Given the description of an element on the screen output the (x, y) to click on. 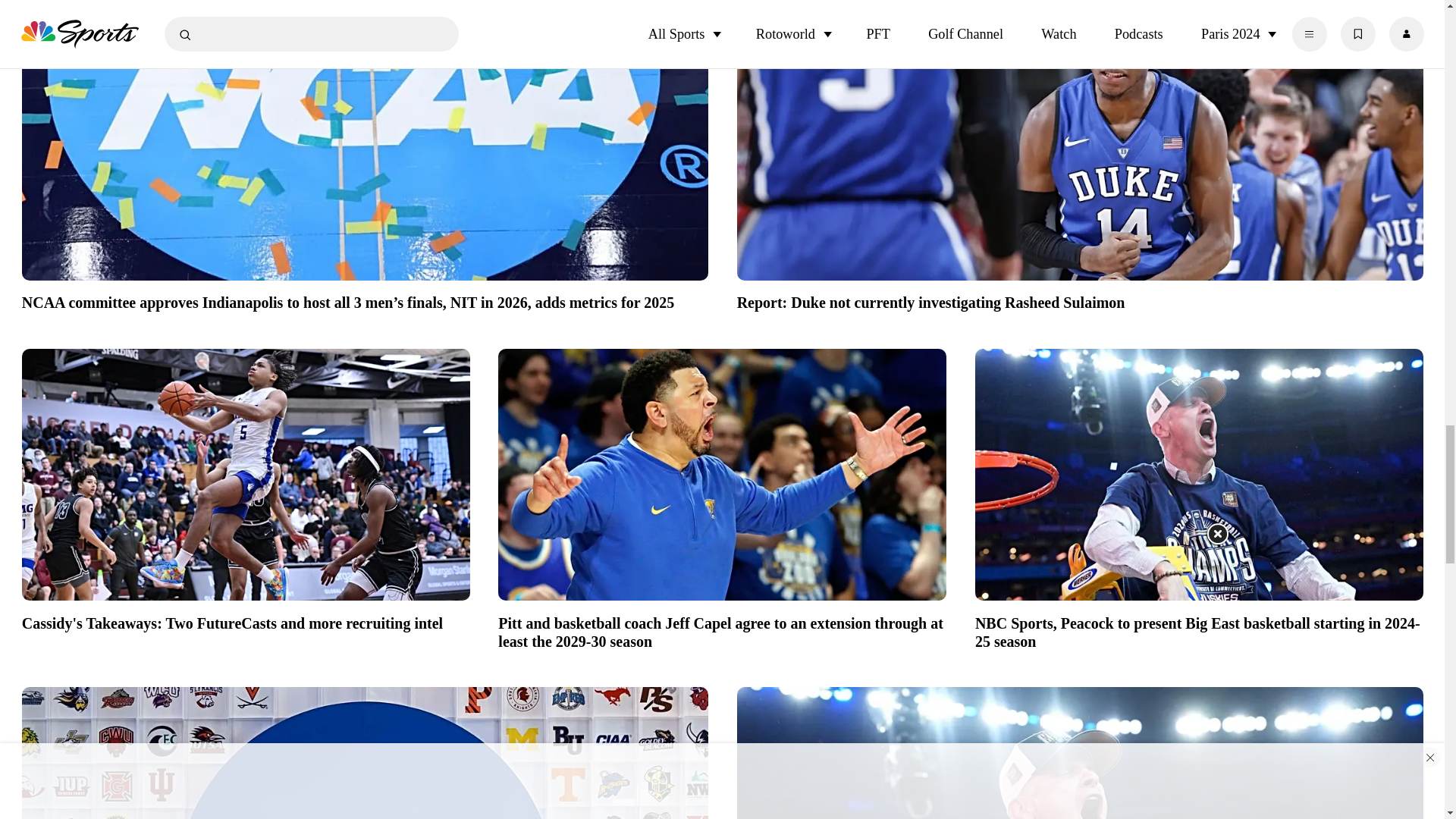
Report: Duke not currently investigating Rasheed Sulaimon (1079, 300)
